Given the description of an element on the screen output the (x, y) to click on. 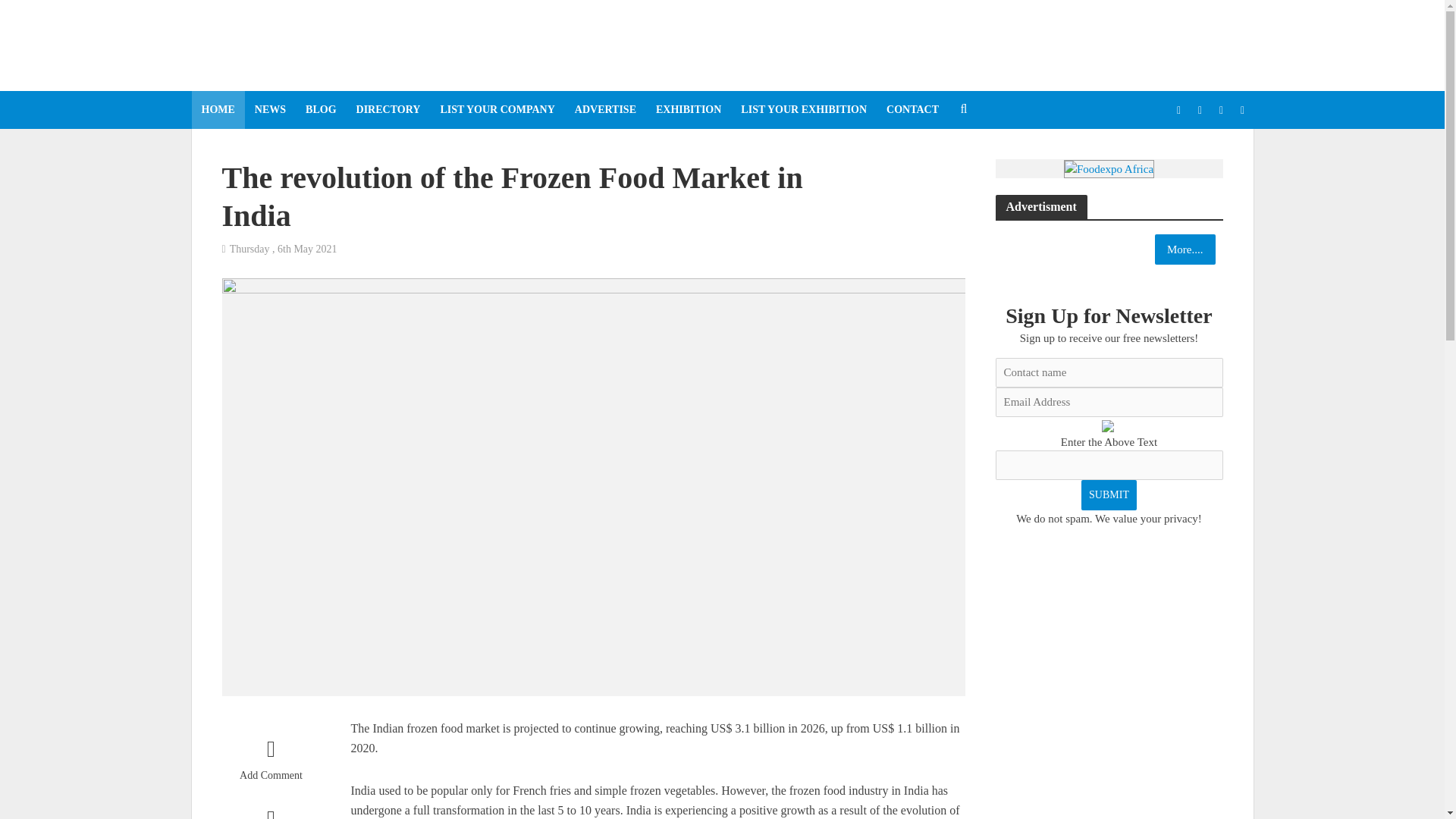
LIST YOUR EXHIBITION (803, 109)
CONTACT (912, 109)
ADVERTISE (605, 109)
EXHIBITION (688, 109)
BLOG (320, 109)
HOME (217, 109)
Add Comment (270, 763)
LIST YOUR COMPANY (496, 109)
NEWS (269, 109)
DIRECTORY (388, 109)
